Given the description of an element on the screen output the (x, y) to click on. 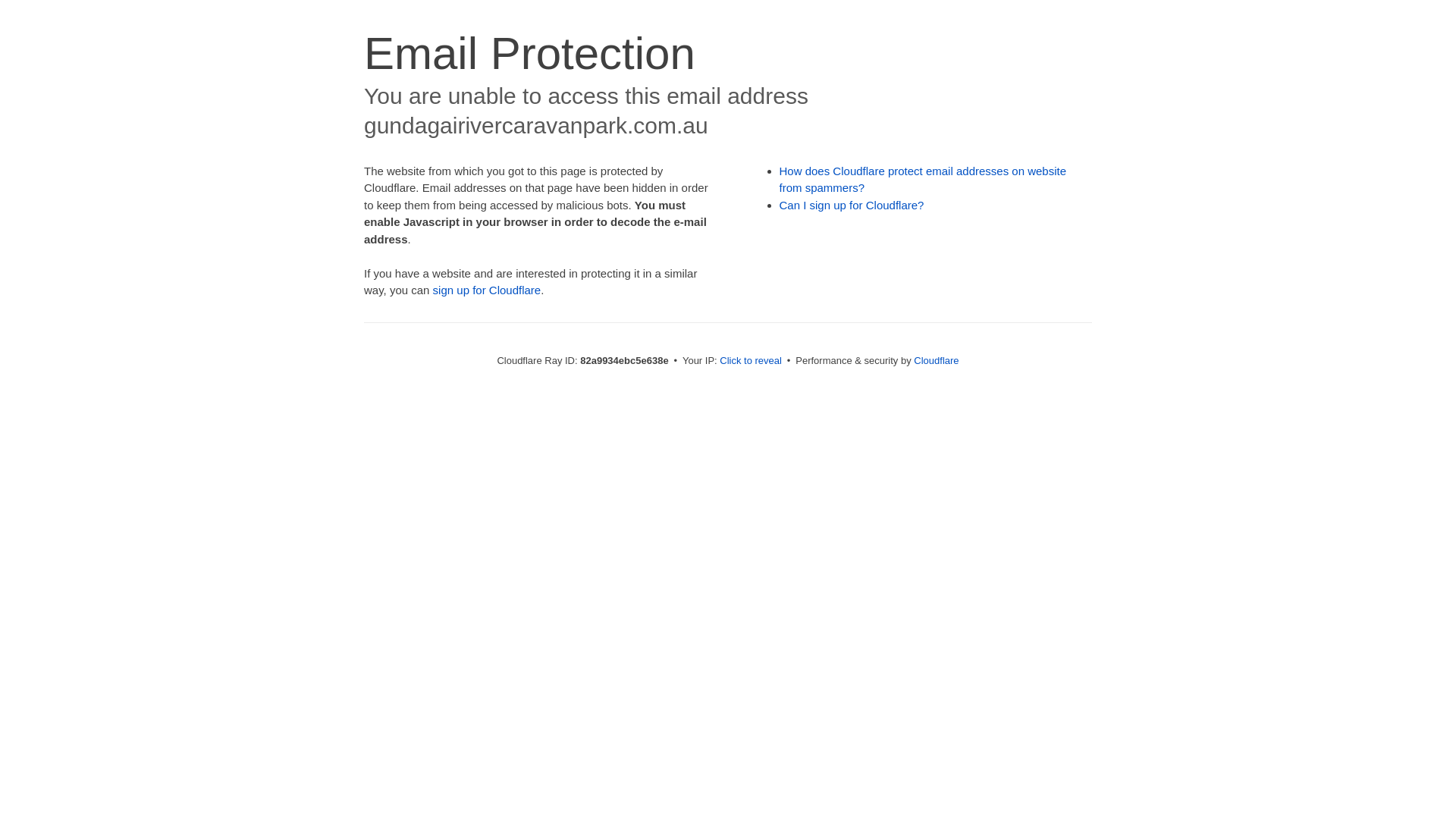
Click to reveal Element type: text (750, 360)
Cloudflare Element type: text (935, 360)
sign up for Cloudflare Element type: text (487, 289)
Can I sign up for Cloudflare? Element type: text (851, 204)
